Given the description of an element on the screen output the (x, y) to click on. 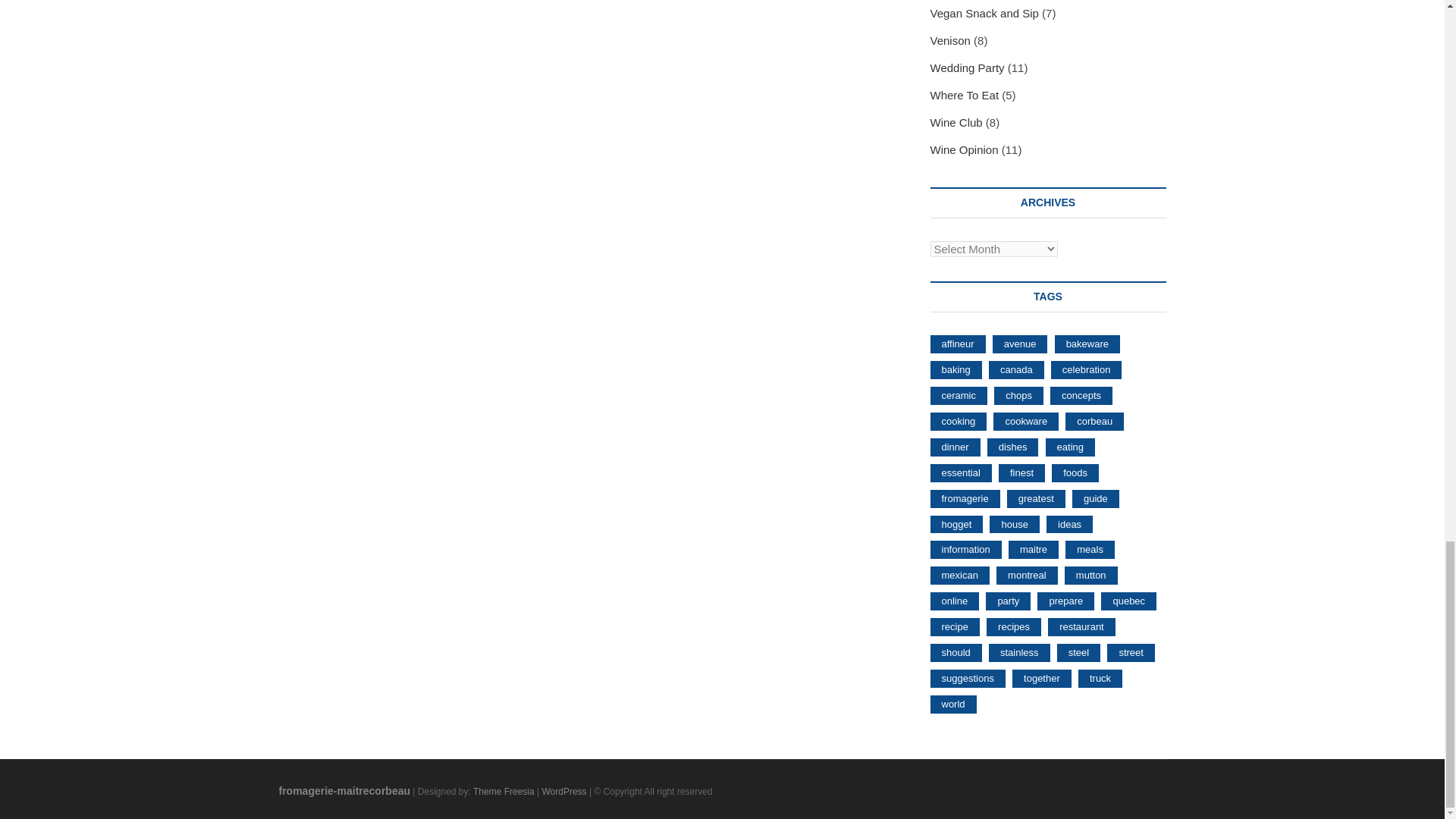
WordPress (563, 791)
fromagerie-maitrecorbeau (344, 790)
Theme Freesia (503, 791)
